Given the description of an element on the screen output the (x, y) to click on. 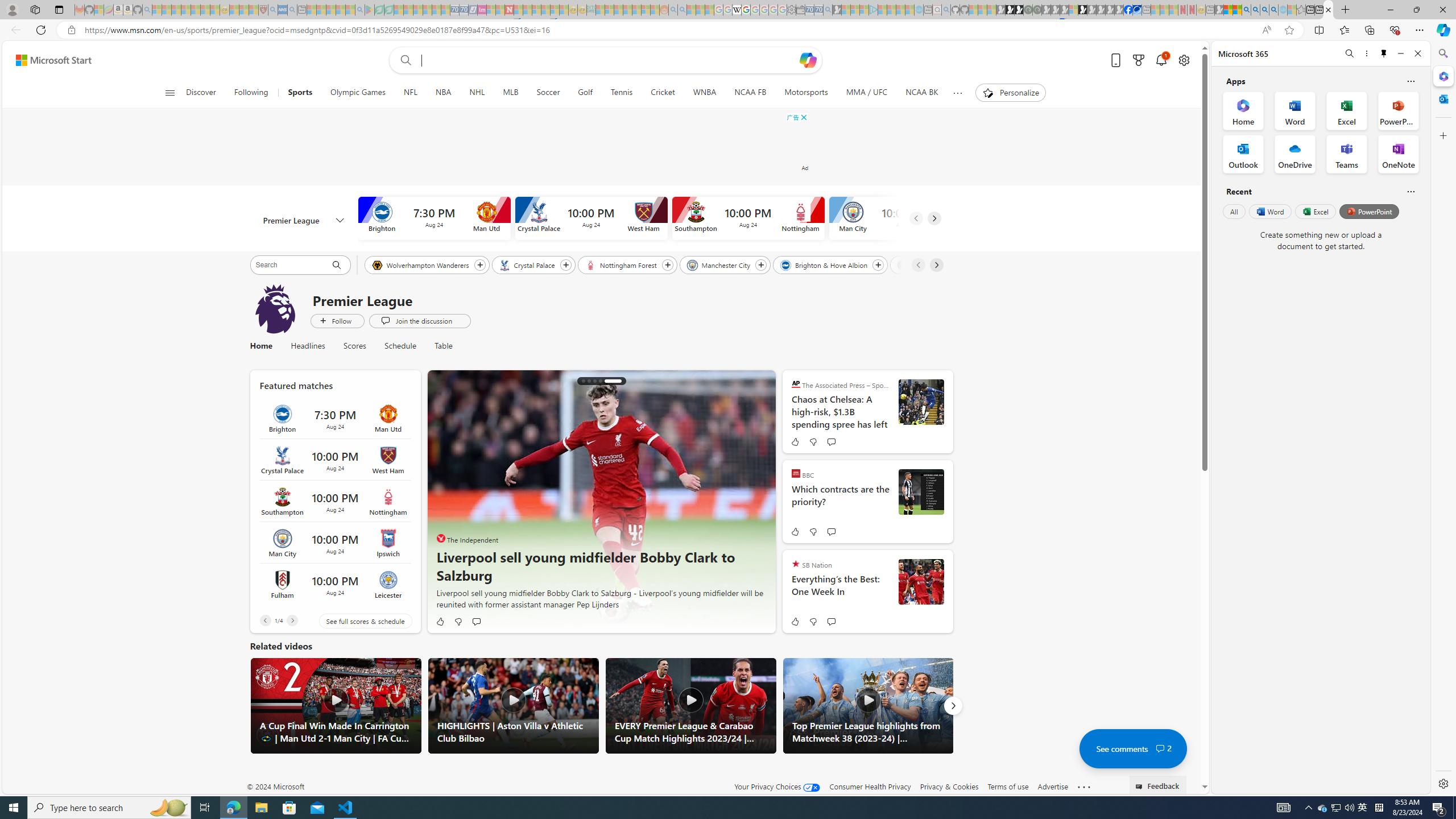
NHL (476, 92)
Fulham vs Leicester Time 10:00 PM Date Aug 24 (334, 584)
Cricket (662, 92)
2009 Bing officially replaced Live Search on June 3 - Search (1255, 9)
